Given the description of an element on the screen output the (x, y) to click on. 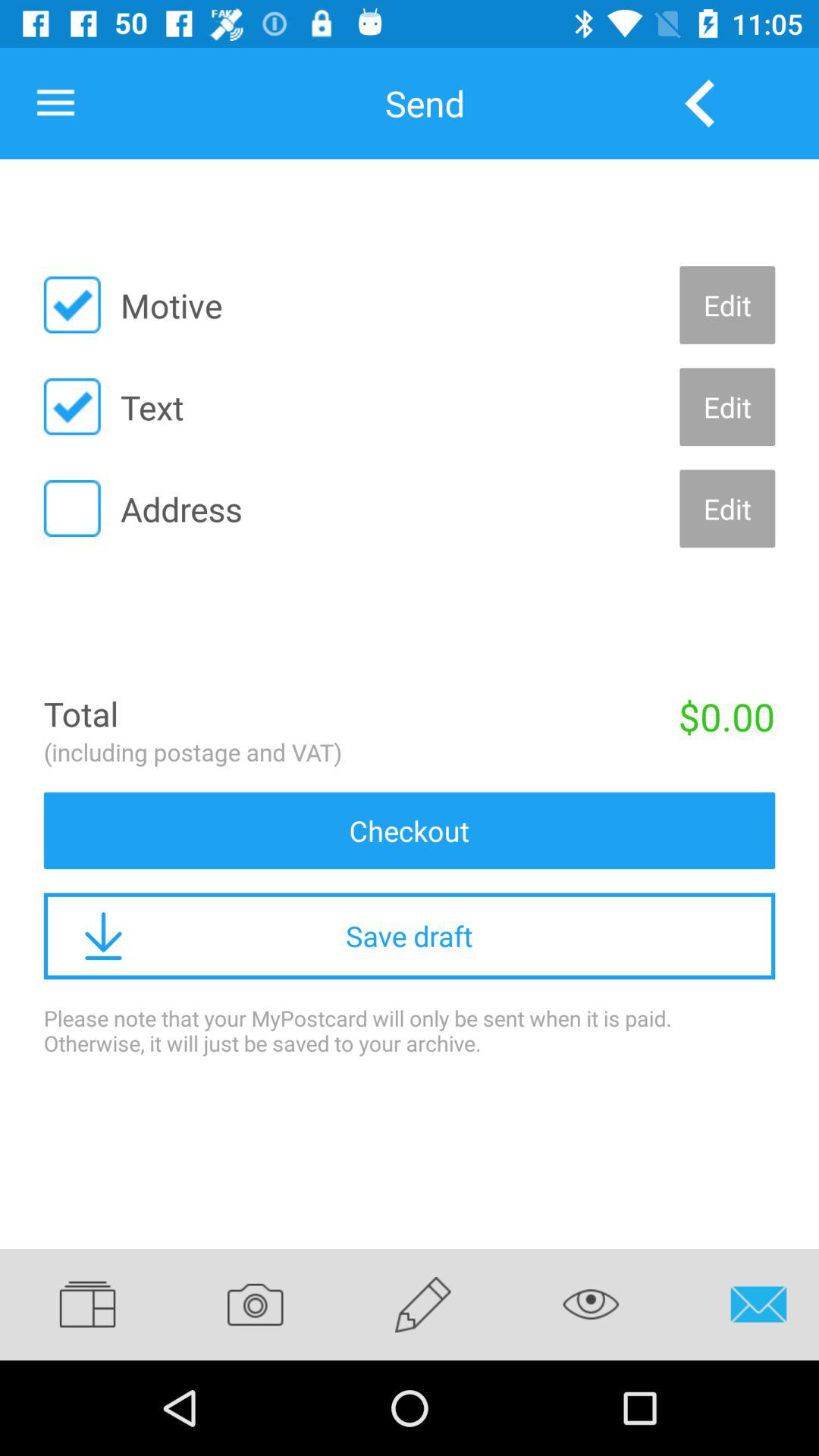
turn on the icon next to send item (699, 103)
